Given the description of an element on the screen output the (x, y) to click on. 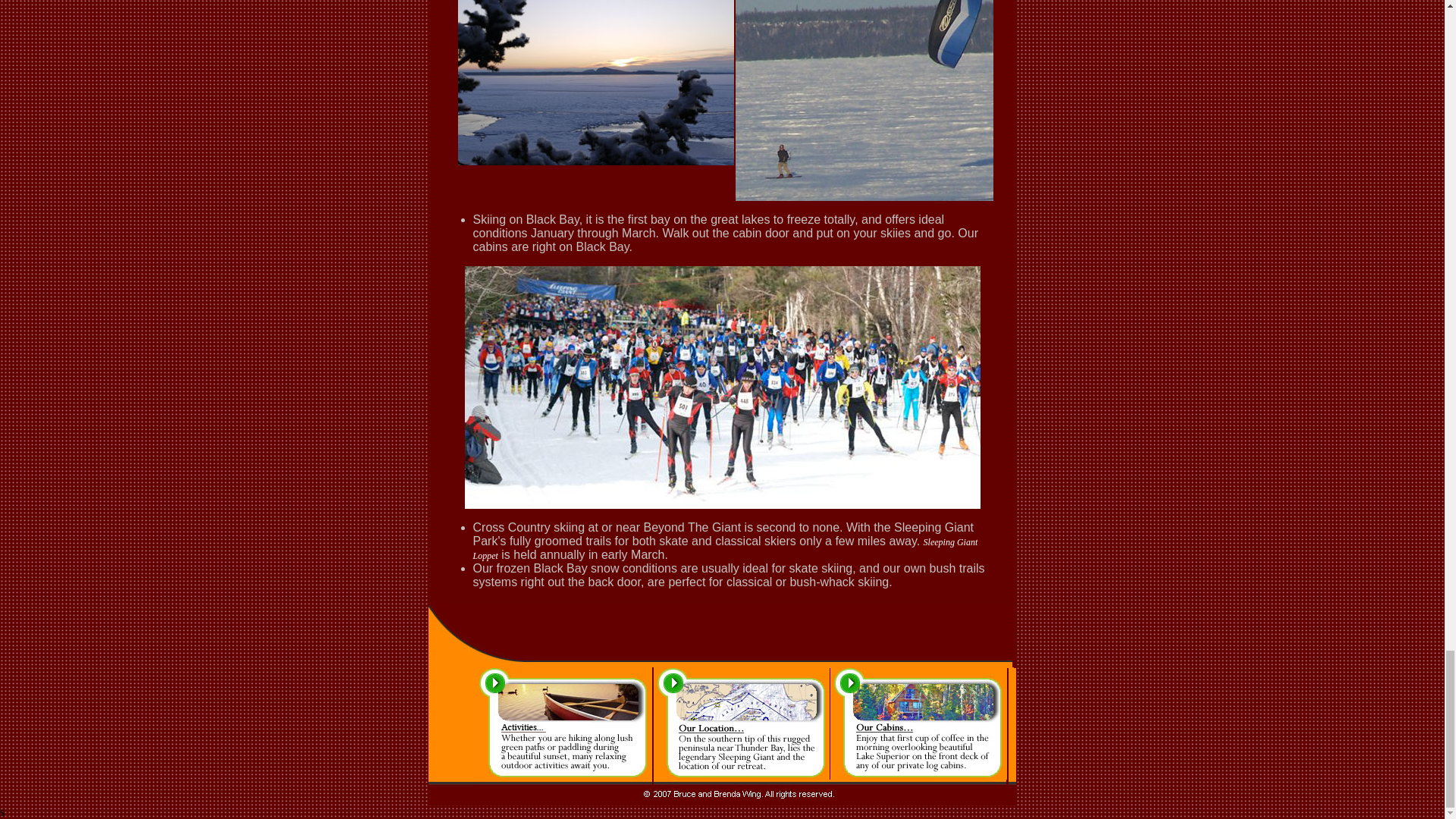
Sleeping Giant Loppet (725, 549)
